Given the description of an element on the screen output the (x, y) to click on. 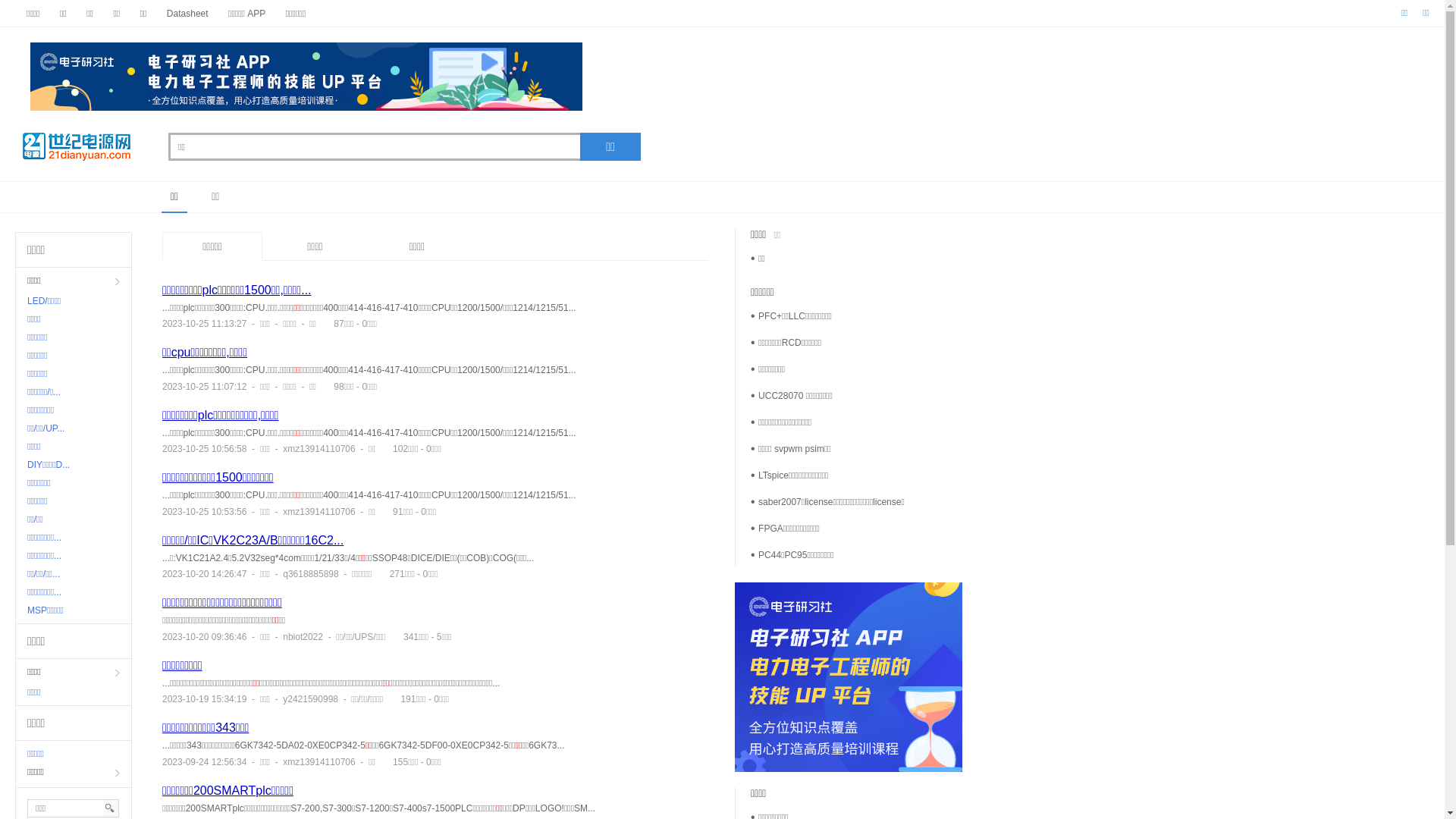
xmz13914110706 Element type: text (318, 761)
Datasheet Element type: text (187, 13)
xmz13914110706 Element type: text (318, 511)
xmz13914110706 Element type: text (318, 448)
q3618885898 Element type: text (310, 573)
nbiot2022 Element type: text (302, 636)
y2421590998 Element type: text (310, 698)
